Given the description of an element on the screen output the (x, y) to click on. 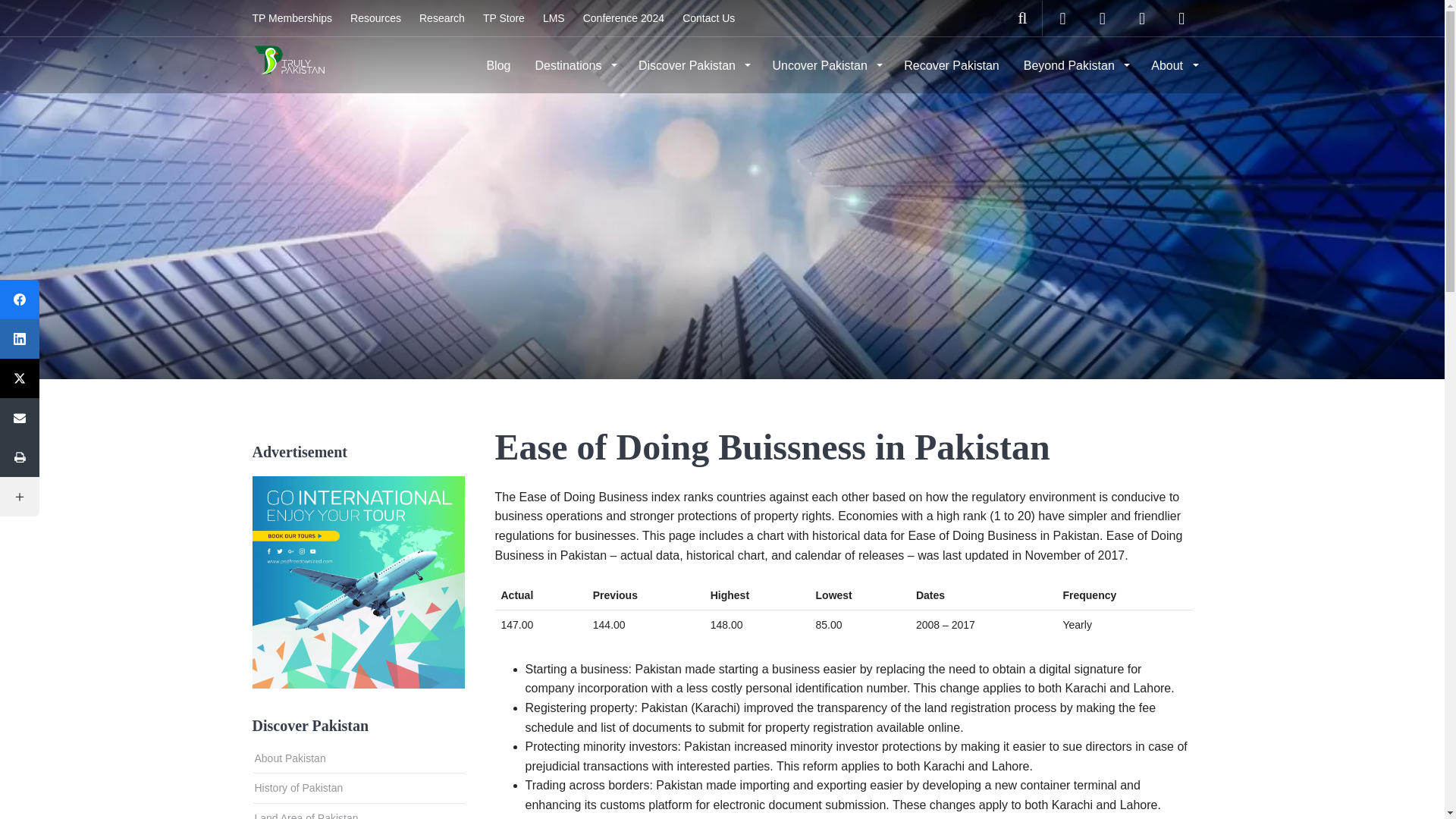
TP Memberships (291, 18)
TP Store (504, 18)
Research (442, 18)
Discover Pakistan (693, 64)
TrulyPakistan (287, 63)
Uncover Pakistan (825, 64)
LMS (553, 18)
Conference 2024 (622, 18)
Contact Us (708, 18)
Destinations (574, 64)
